Given the description of an element on the screen output the (x, y) to click on. 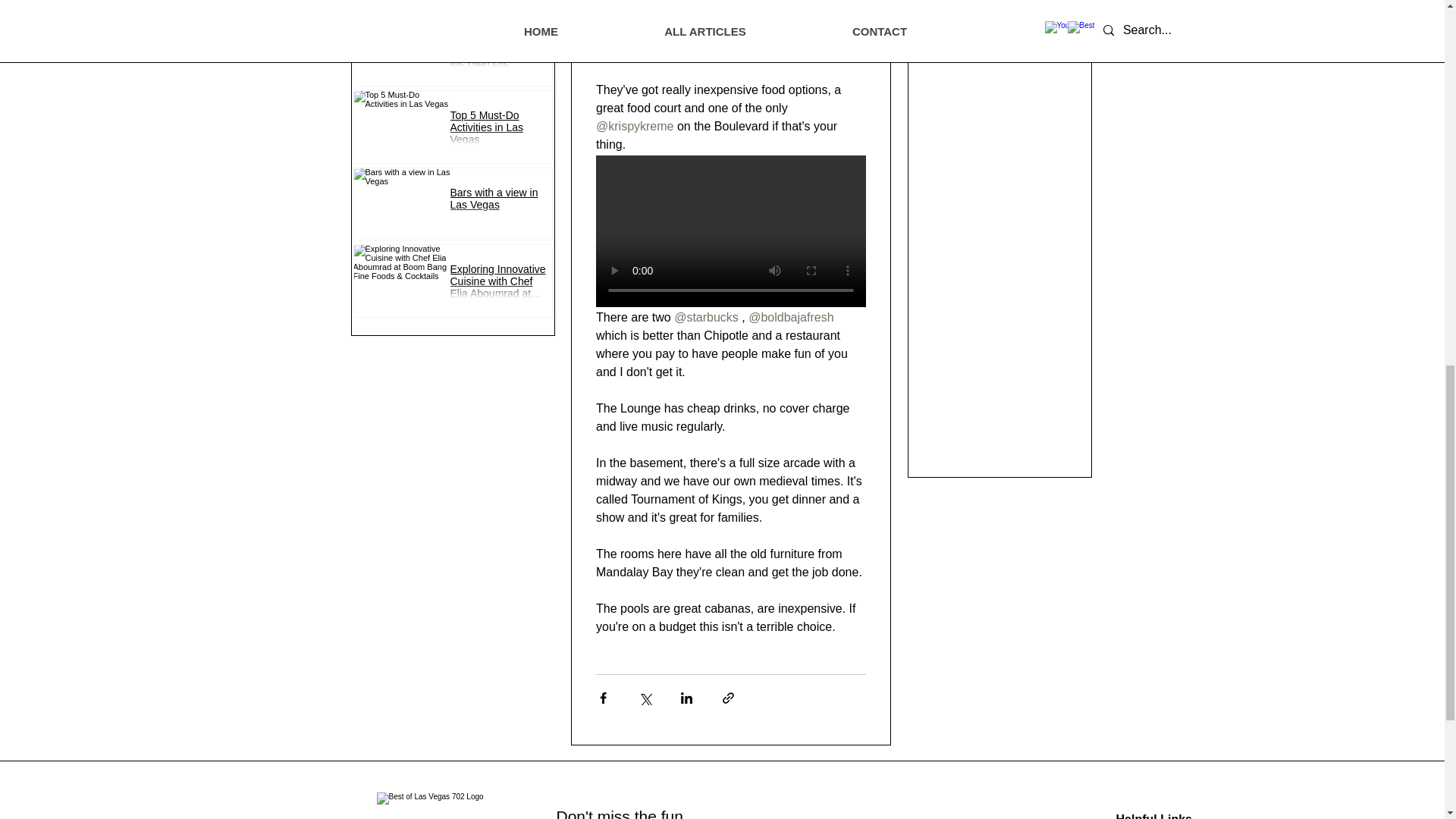
Bars with a view in Las Vegas (500, 203)
Best Rooftop Bars in Las Vegas: Enjoying the High Life (500, 53)
Top 5 Must-Do Activities in Las Vegas (500, 131)
